Given the description of an element on the screen output the (x, y) to click on. 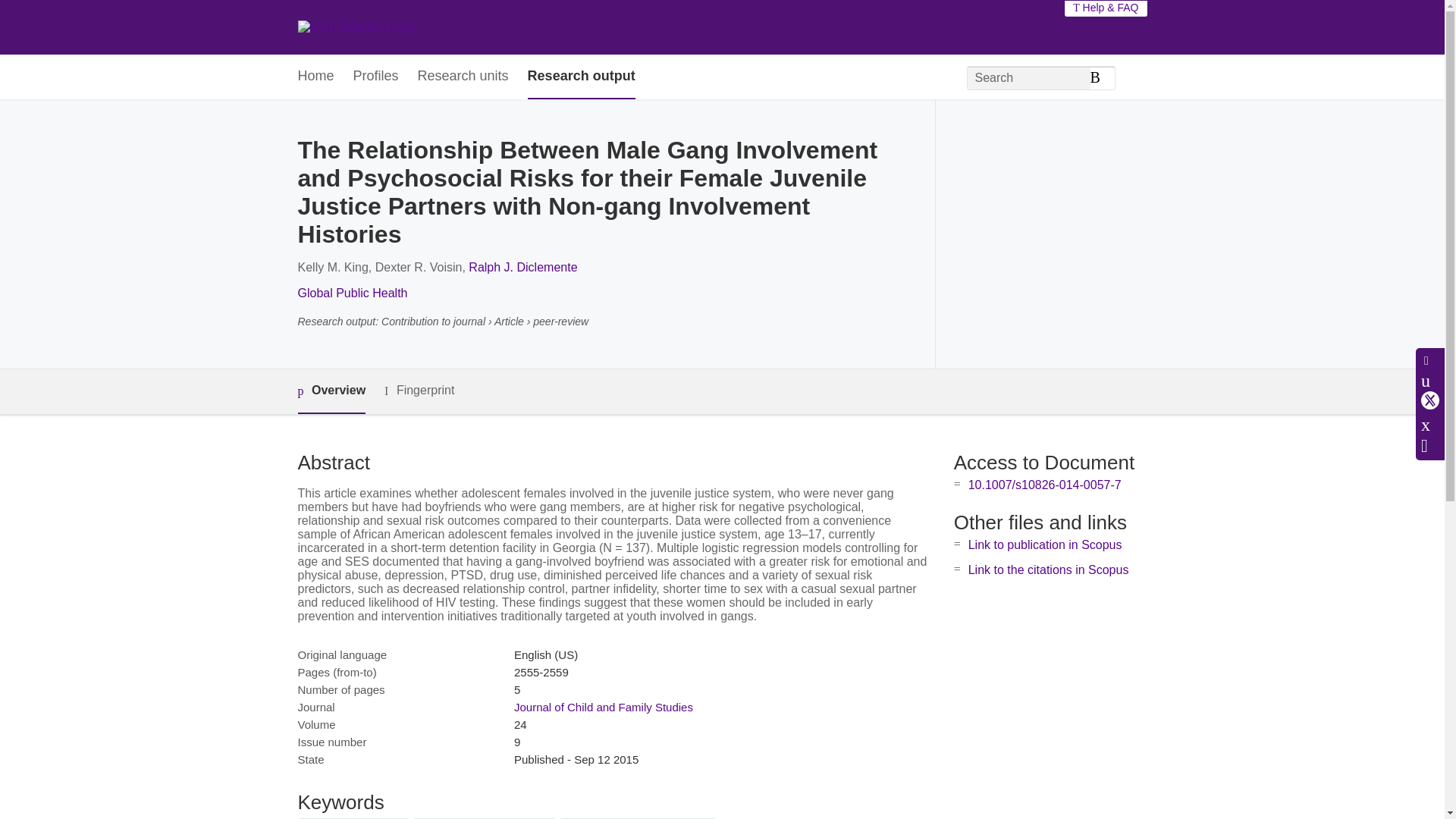
Profiles (375, 76)
Research units (462, 76)
NYU Scholars Home (356, 27)
Overview (331, 391)
Link to the citations in Scopus (1048, 569)
Link to publication in Scopus (1045, 544)
Research output (580, 76)
Journal of Child and Family Studies (603, 707)
Fingerprint (419, 390)
